Given the description of an element on the screen output the (x, y) to click on. 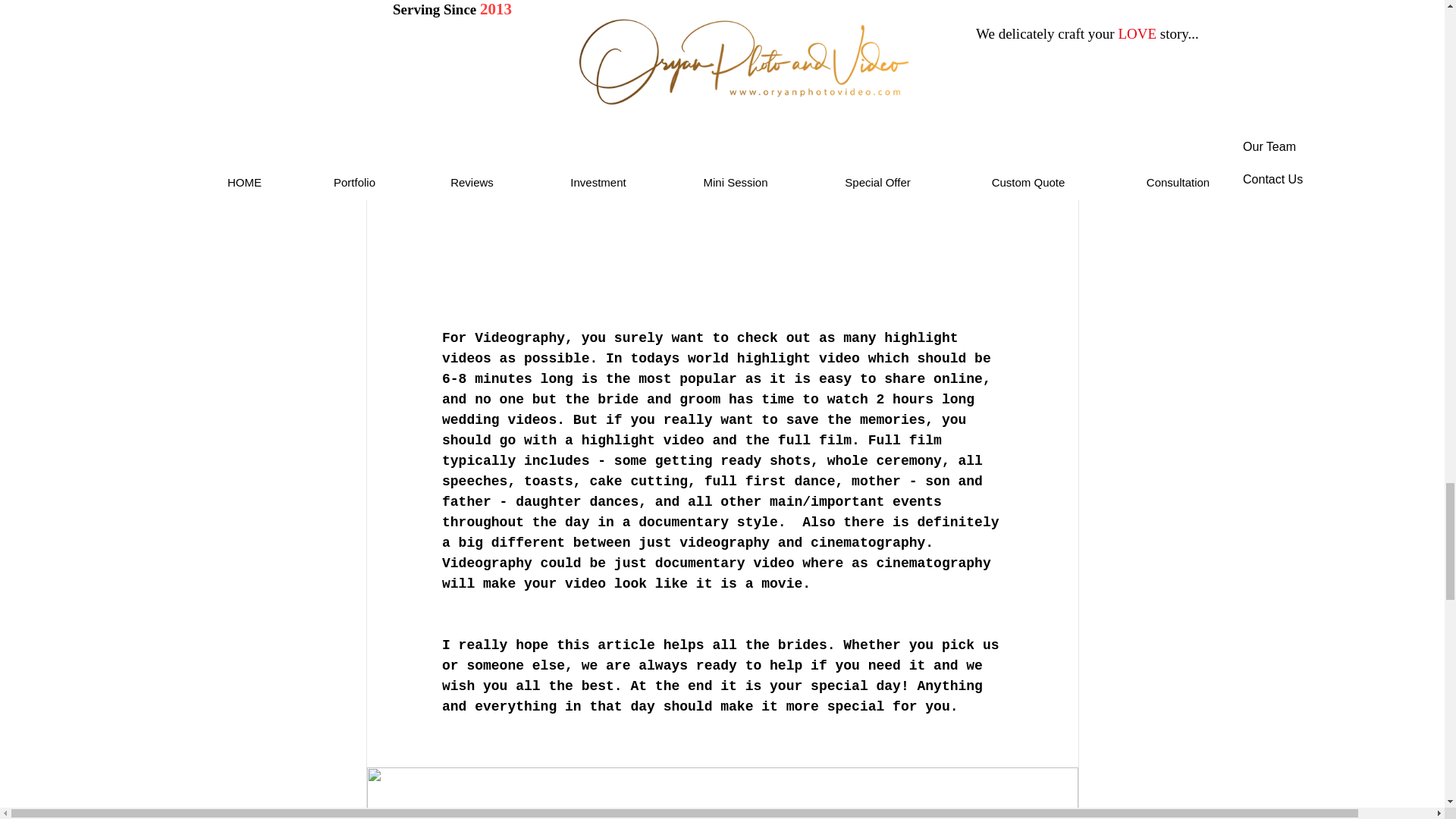
ricos-video (722, 9)
